Given the description of an element on the screen output the (x, y) to click on. 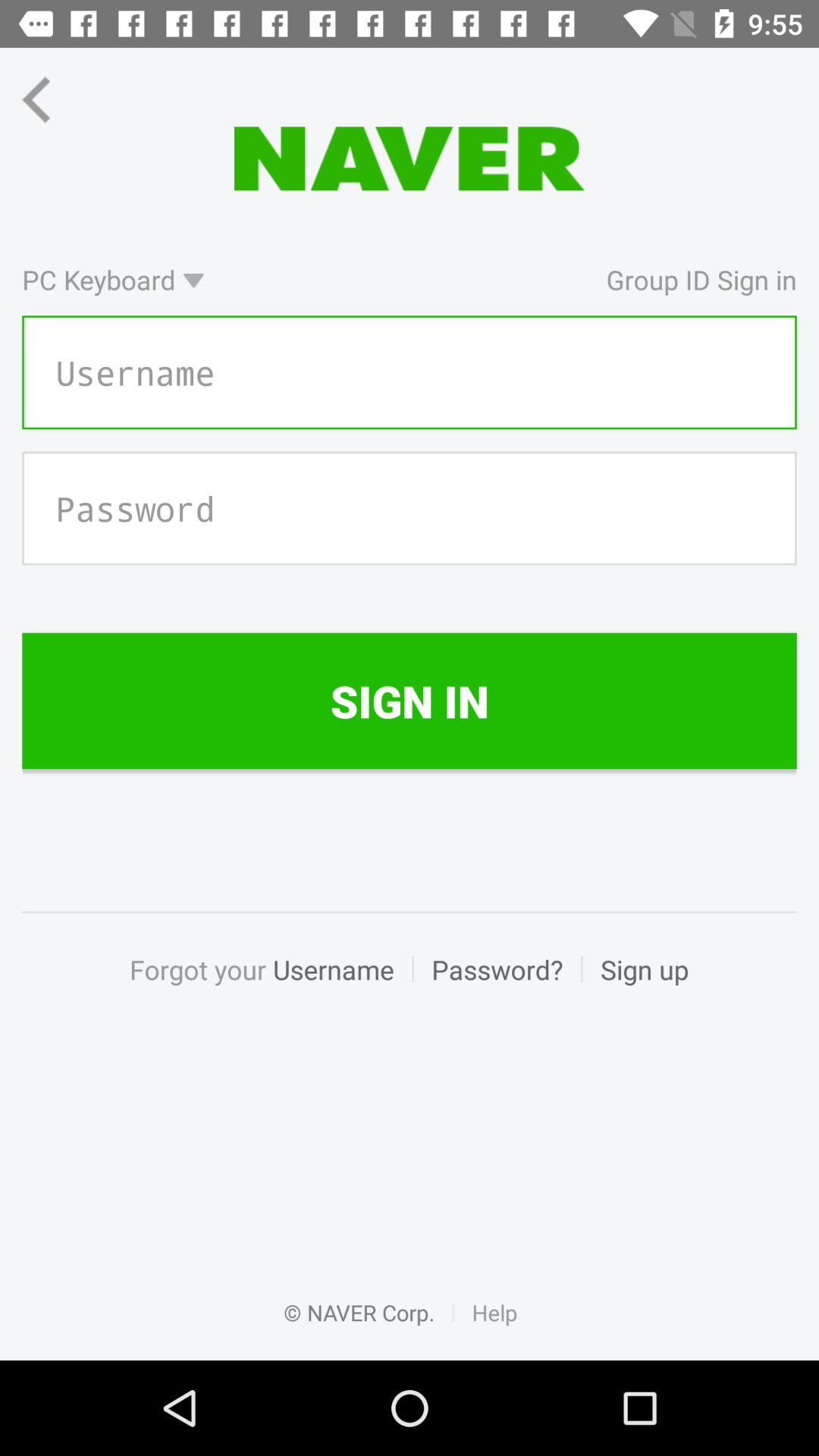
choose sign up (635, 985)
